Given the description of an element on the screen output the (x, y) to click on. 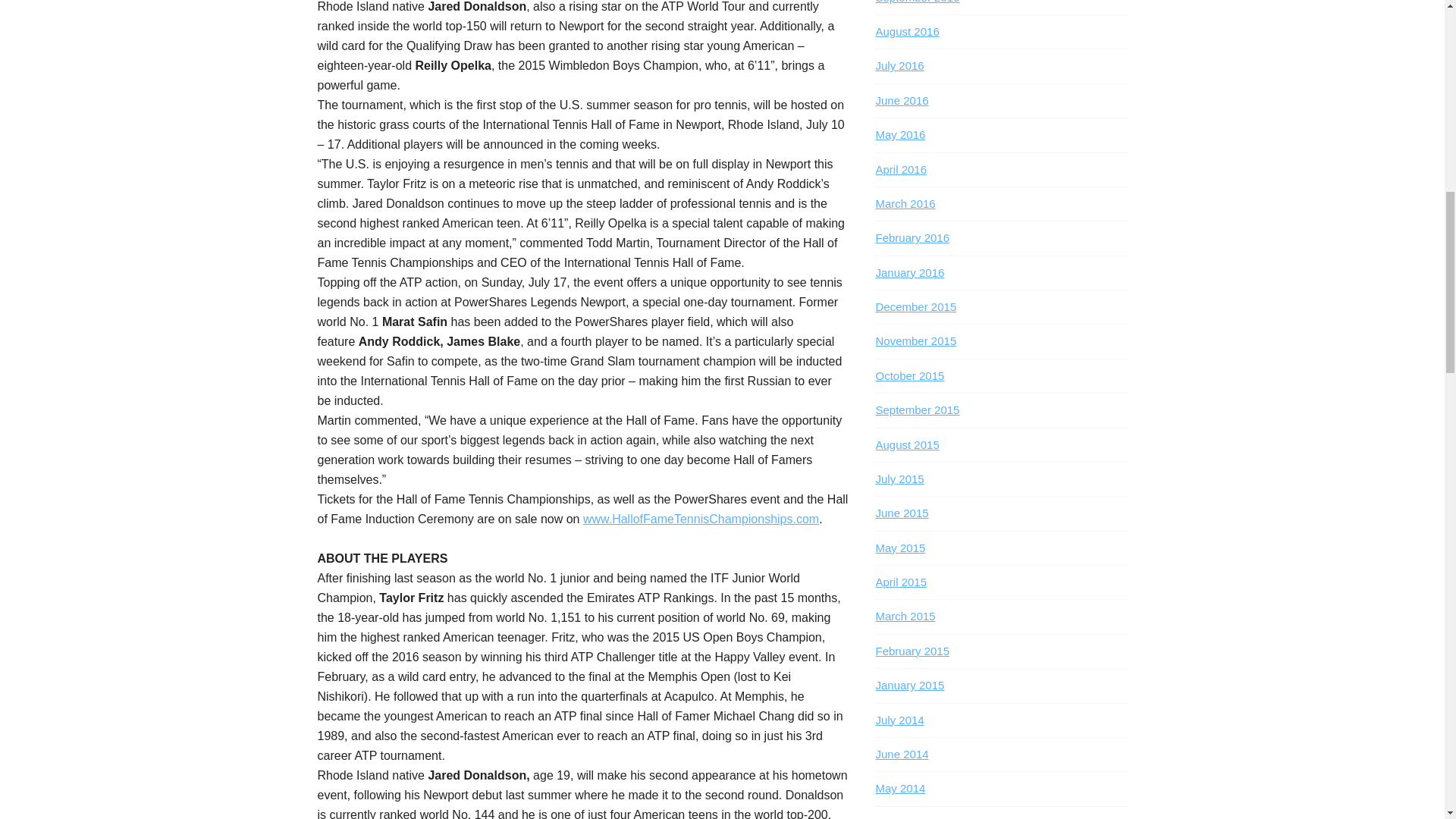
March 2016 (904, 203)
August 2016 (907, 31)
July 2016 (899, 65)
September 2016 (917, 2)
June 2016 (901, 100)
www.HallofFameTennisChampionships.com (700, 518)
May 2016 (899, 133)
April 2016 (900, 168)
